Given the description of an element on the screen output the (x, y) to click on. 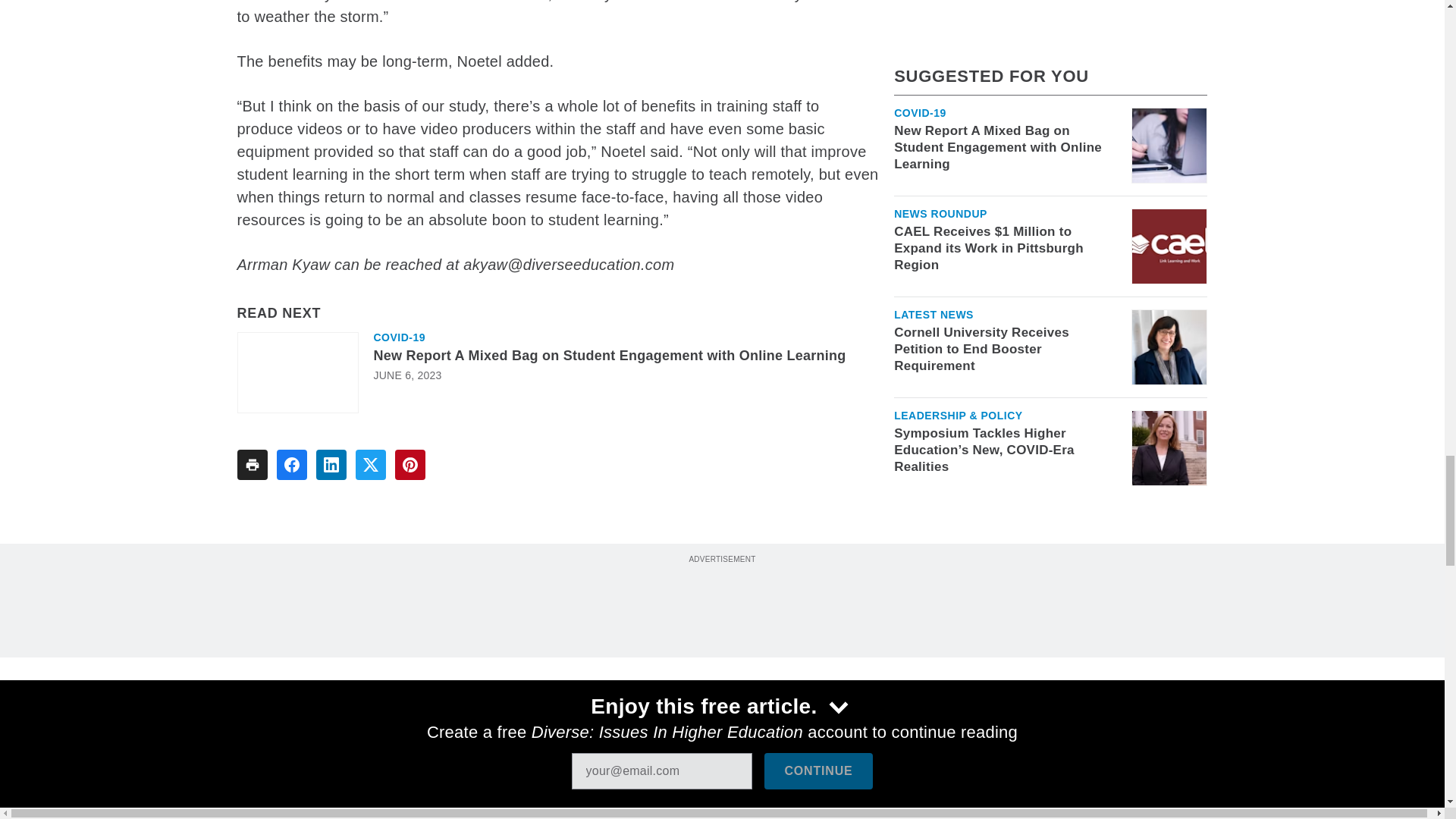
COVID-19 (398, 337)
